Given the description of an element on the screen output the (x, y) to click on. 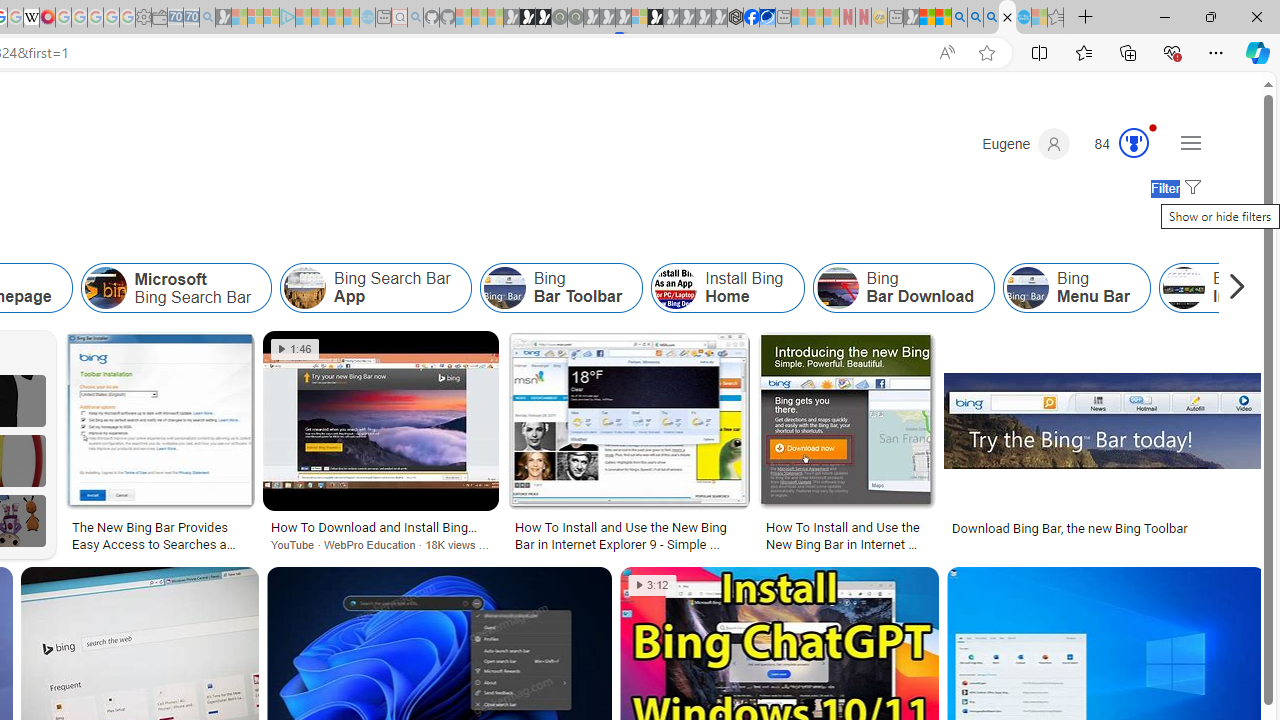
Scroll right (1231, 287)
Download Bing Bar, the new Bing Toolbar (1069, 528)
Bing Menu Bar (1028, 287)
Bing Bar Download (837, 287)
Bing Menu Bar (1076, 287)
Bing Search Bar App (305, 287)
